Given the description of an element on the screen output the (x, y) to click on. 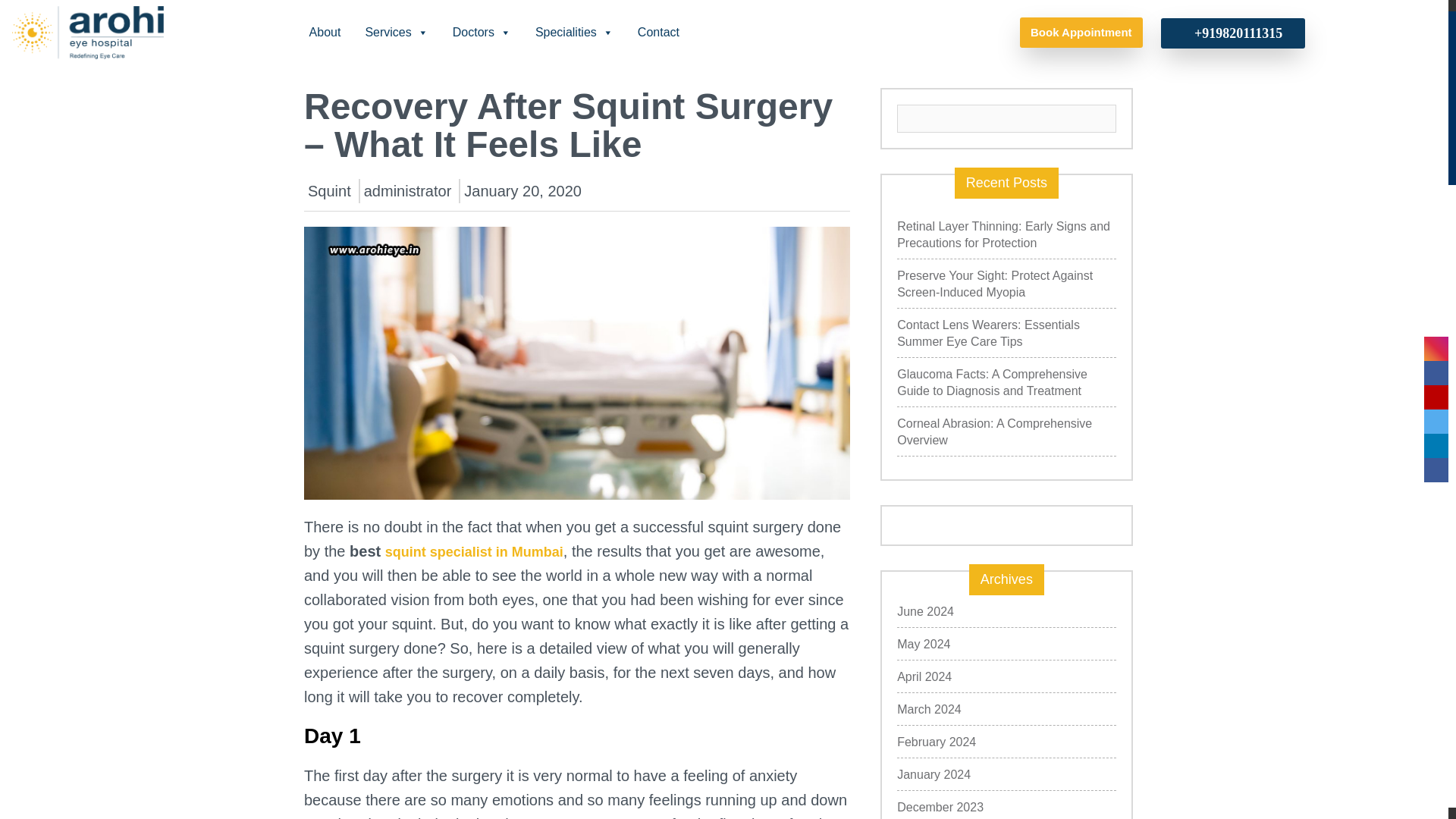
Doctors (481, 32)
About (324, 32)
Services (396, 32)
Search (1103, 118)
Specialities (573, 32)
